Given the description of an element on the screen output the (x, y) to click on. 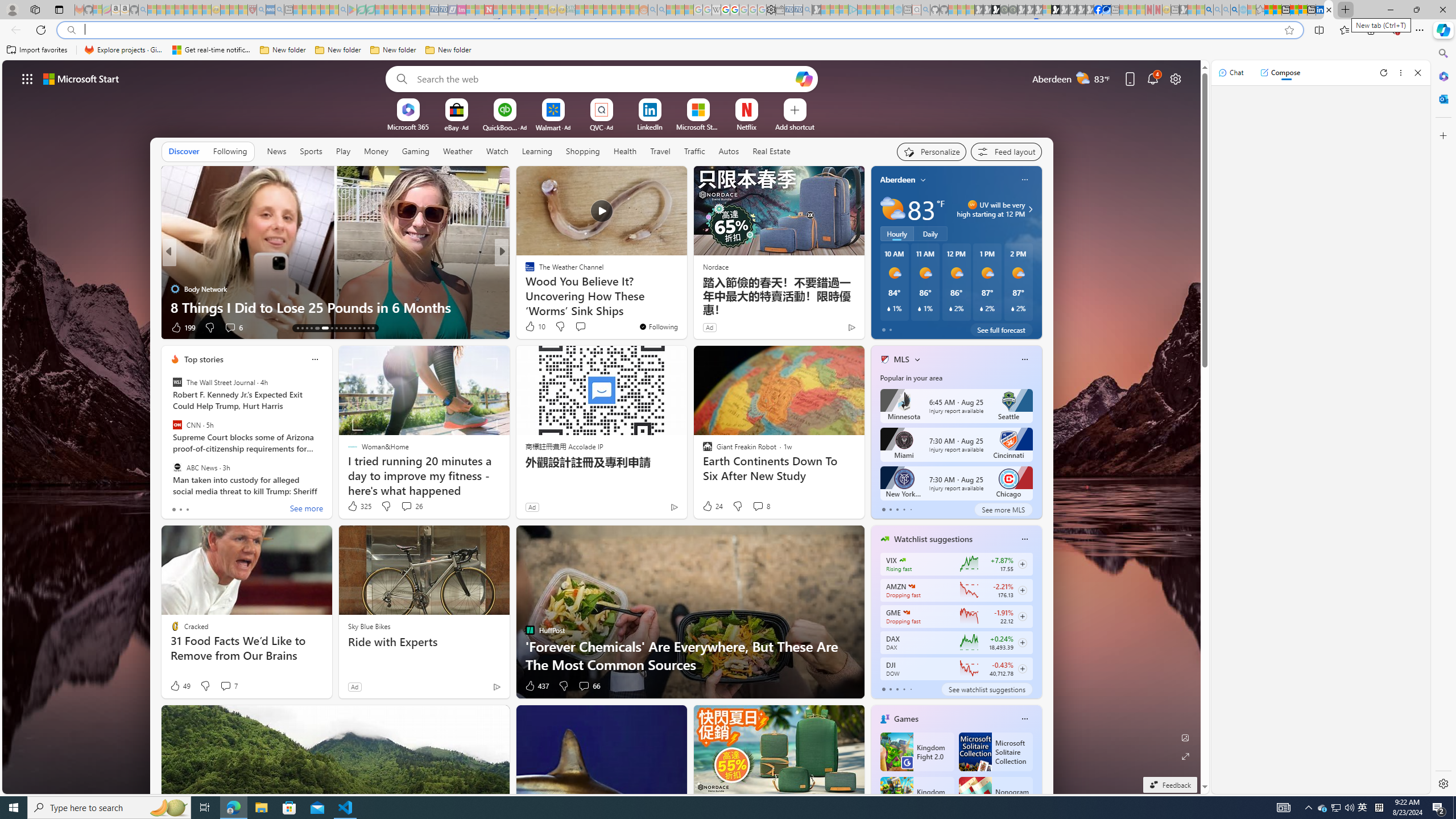
See full forecast (1000, 329)
Play (342, 151)
Geography Facts Most People Get Wrong (684, 307)
Traffic (694, 151)
